Given the description of an element on the screen output the (x, y) to click on. 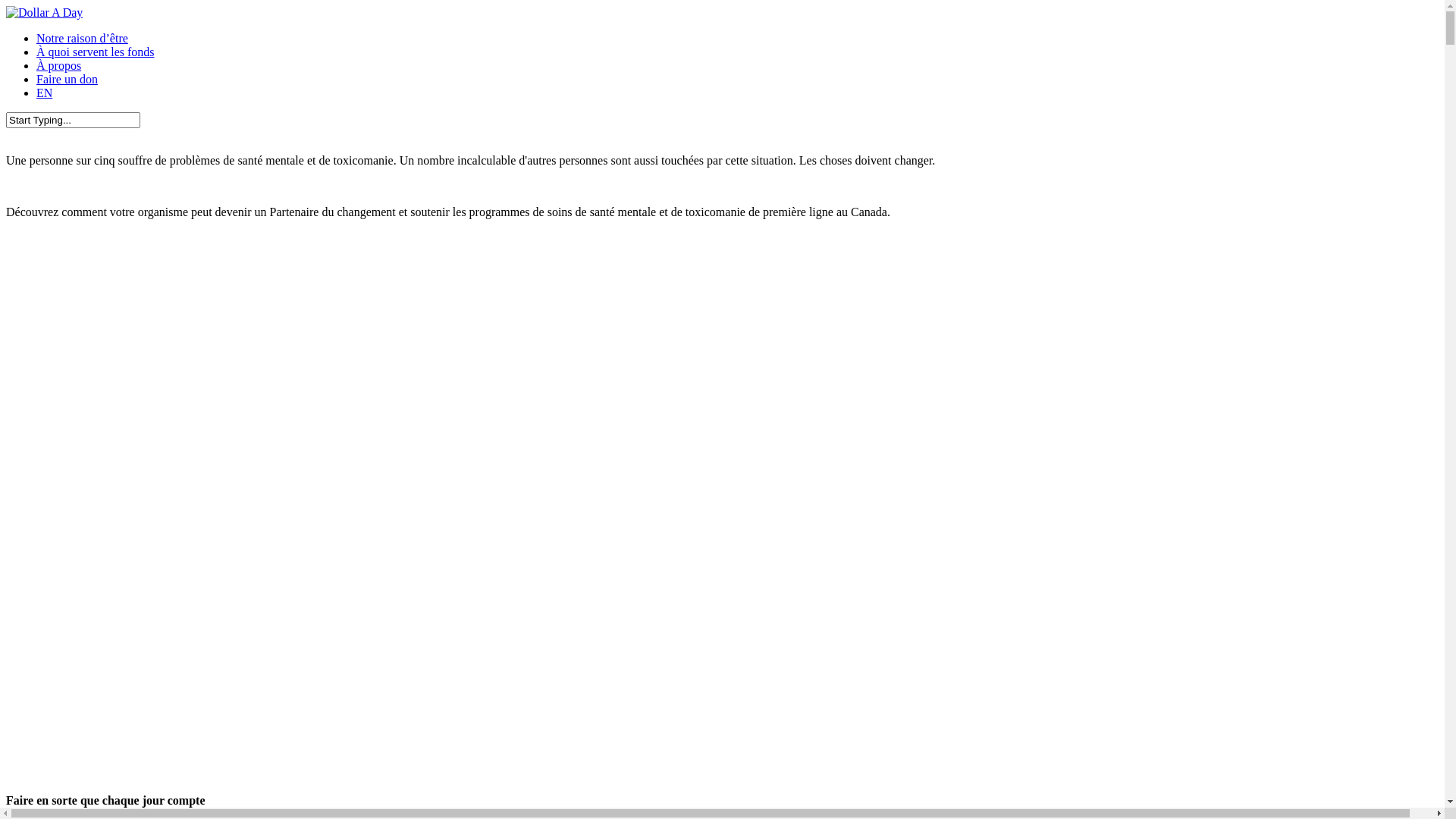
Skip to main content Element type: text (5, 5)
EN Element type: text (44, 92)
Faire un don Element type: text (66, 78)
